Given the description of an element on the screen output the (x, y) to click on. 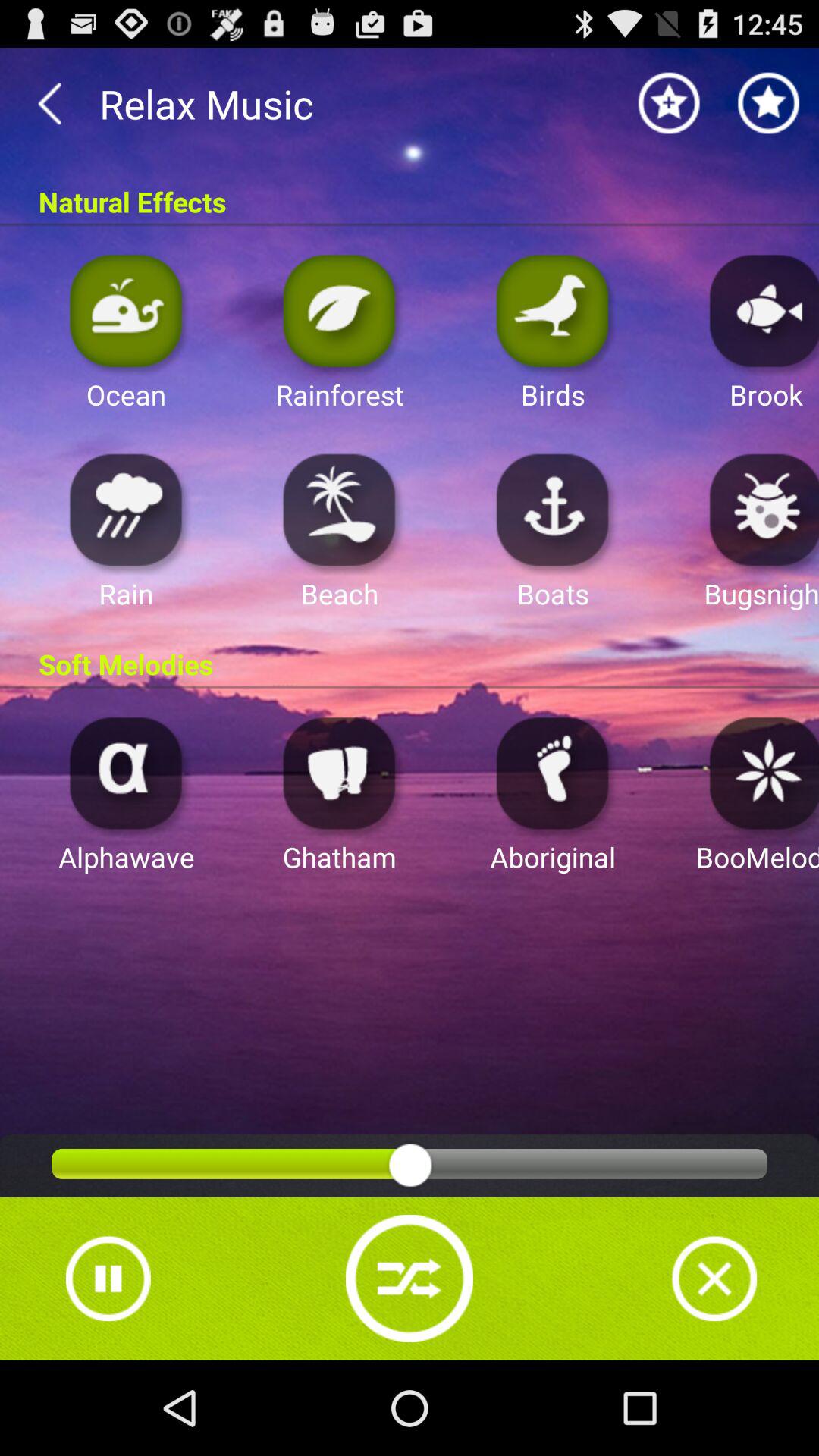
select ocean (126, 309)
